Given the description of an element on the screen output the (x, y) to click on. 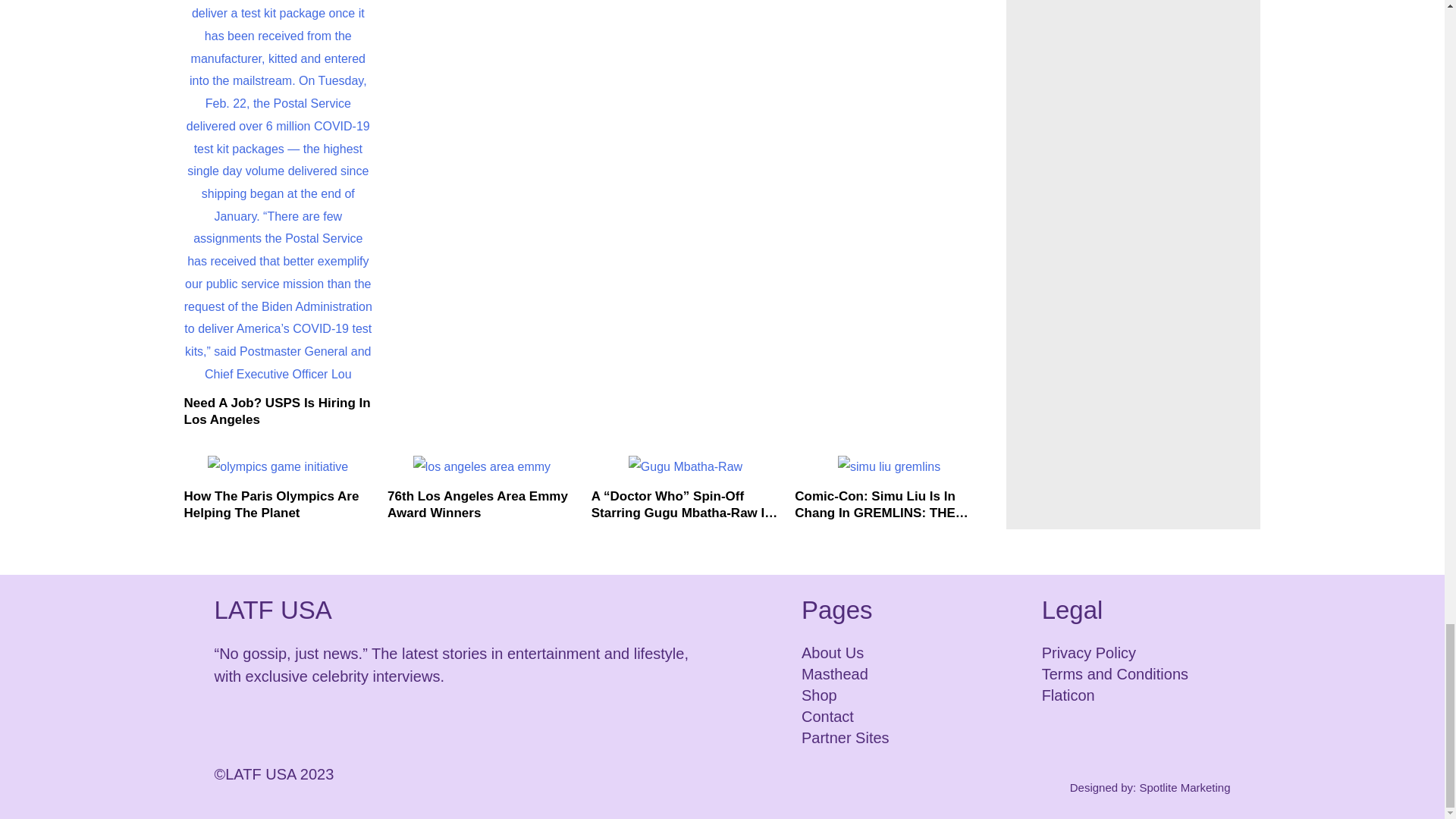
Gugu Mbatha-Raw (685, 466)
olympics game initiative (277, 466)
simu liu gremlins (889, 466)
los angeles area emmy (481, 466)
